Given the description of an element on the screen output the (x, y) to click on. 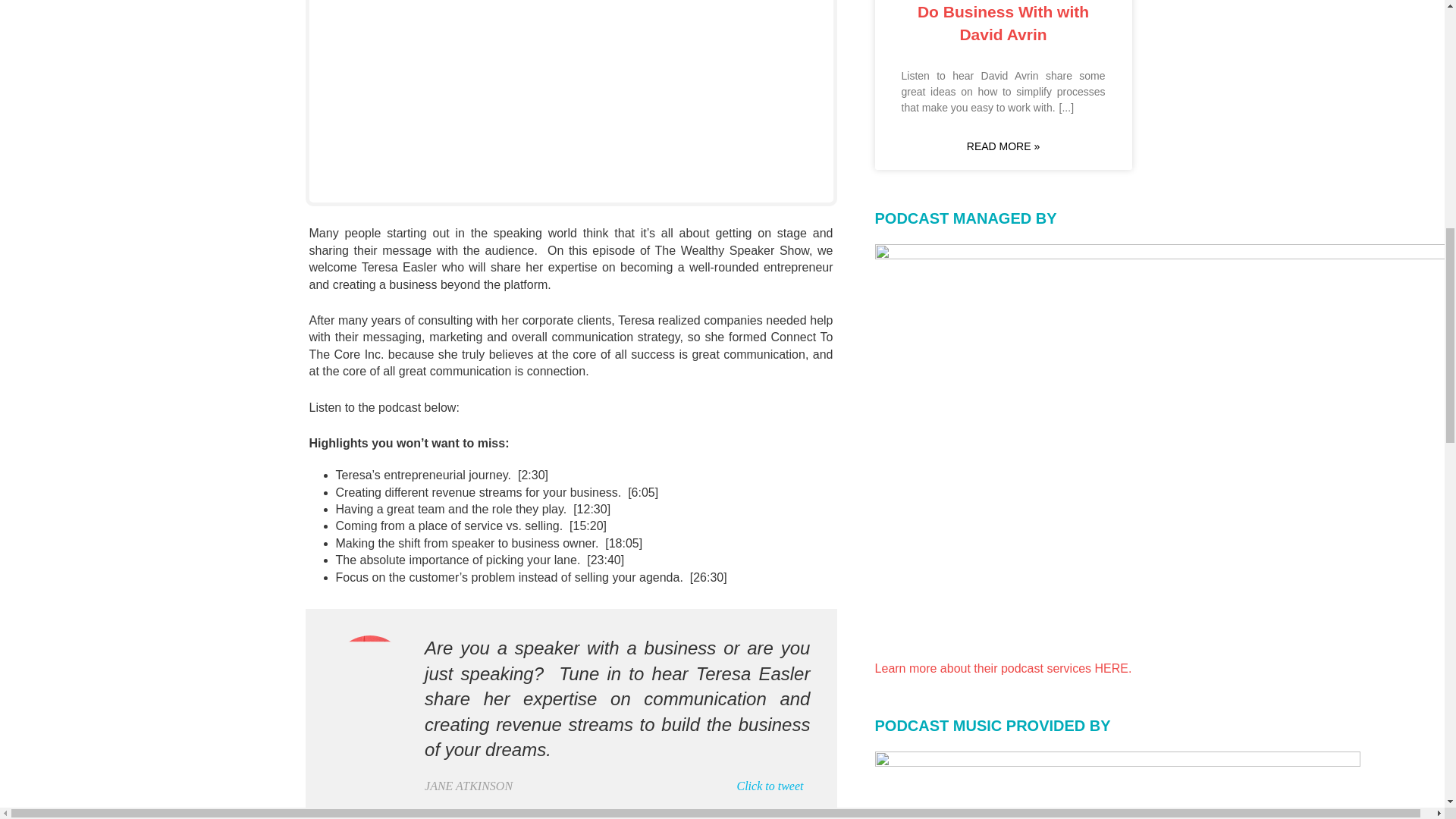
Being Ridiculously Easy to Do Business With with David Avrin (1003, 21)
